Given the description of an element on the screen output the (x, y) to click on. 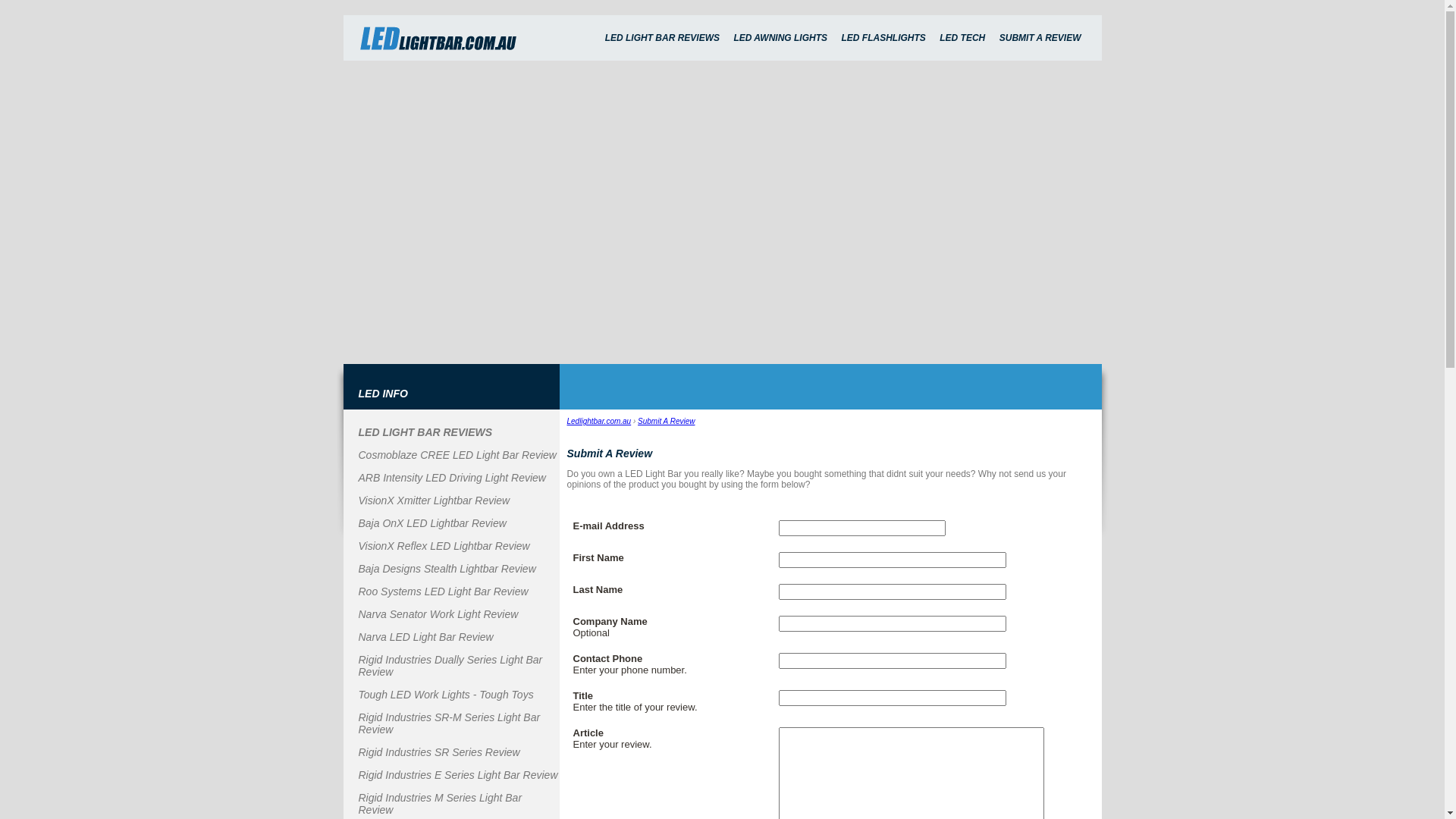
Submit A Review Element type: text (665, 421)
Baja OnX LED Lightbar Review Element type: text (431, 523)
ARB Intensity LED Driving Light Review Element type: text (451, 477)
Narva Senator Work Light Review Element type: text (437, 614)
Rigid Industries E Series Light Bar Review Element type: text (457, 774)
VisionX Reflex LED Lightbar Review Element type: text (443, 545)
Rigid Industries SR Series Review Element type: text (438, 752)
VisionX Xmitter Lightbar Review Element type: text (433, 500)
Rigid Industries Dually Series Light Bar Review Element type: text (449, 665)
Rigid Industries M Series Light Bar Review Element type: text (439, 803)
LED TECH Element type: text (962, 37)
Ledlightbar.com.au Element type: text (599, 421)
LED LIGHT BAR REVIEWS Element type: text (661, 37)
LED FLASHLIGHTS Element type: text (882, 37)
Narva LED Light Bar Review Element type: text (424, 636)
Cosmoblaze CREE LED Light Bar Review Element type: text (456, 454)
LED AWNING LIGHTS Element type: text (780, 37)
SUBMIT A REVIEW Element type: text (1040, 37)
Tough LED Work Lights - Tough Toys Element type: text (445, 694)
Roo Systems LED Light Bar Review Element type: text (442, 591)
Rigid Industries SR-M Series Light Bar Review Element type: text (448, 723)
Baja Designs Stealth Lightbar Review Element type: text (446, 568)
